Given the description of an element on the screen output the (x, y) to click on. 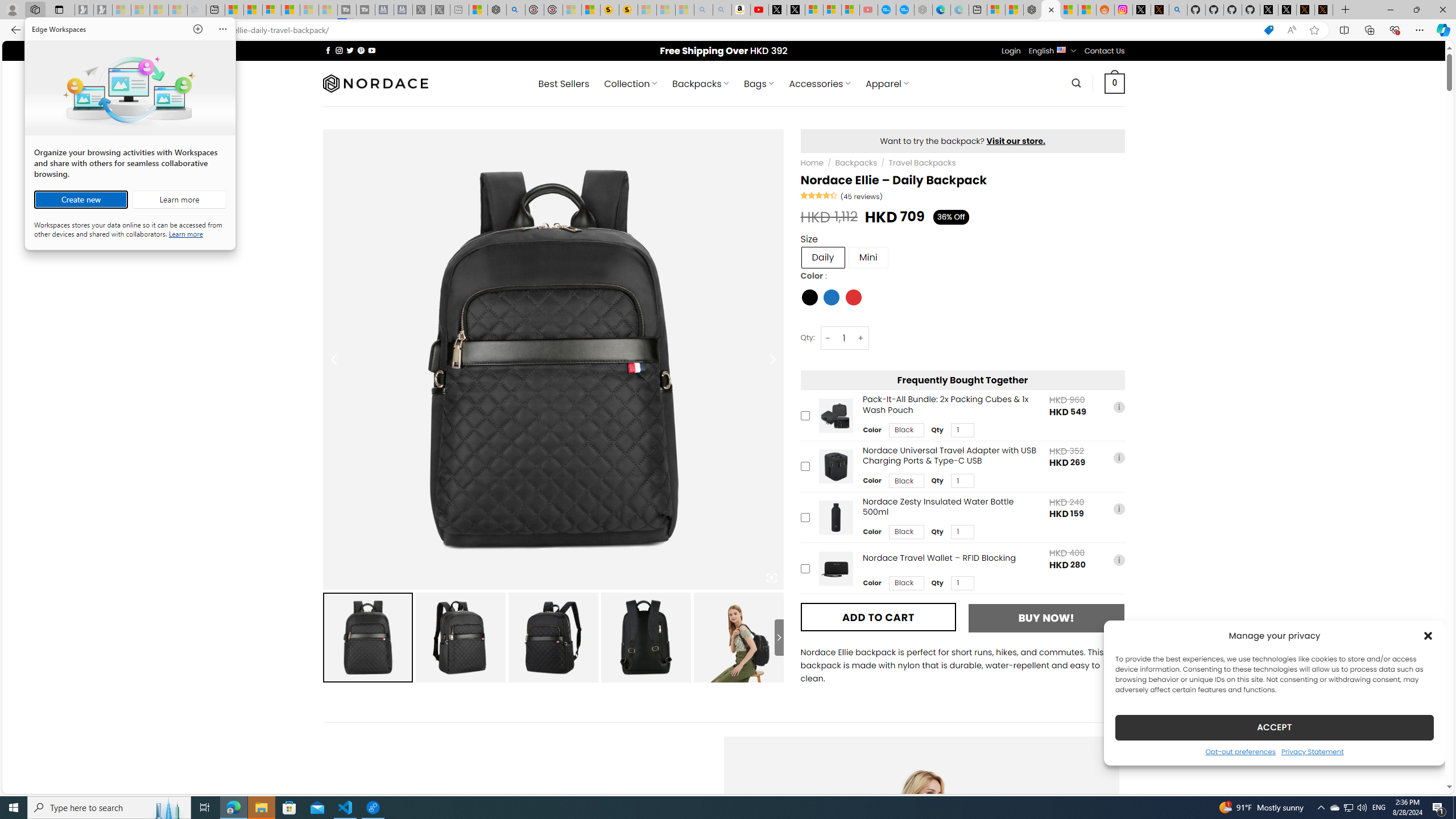
Follow on Instagram (338, 49)
BUY NOW! (1046, 617)
Login (1010, 50)
Nordace Zesty Insulated Water Bottle 500ml (835, 517)
- (827, 337)
Backpacks (855, 162)
Opt-out preferences (1240, 750)
X Privacy Policy (1324, 9)
